Given the description of an element on the screen output the (x, y) to click on. 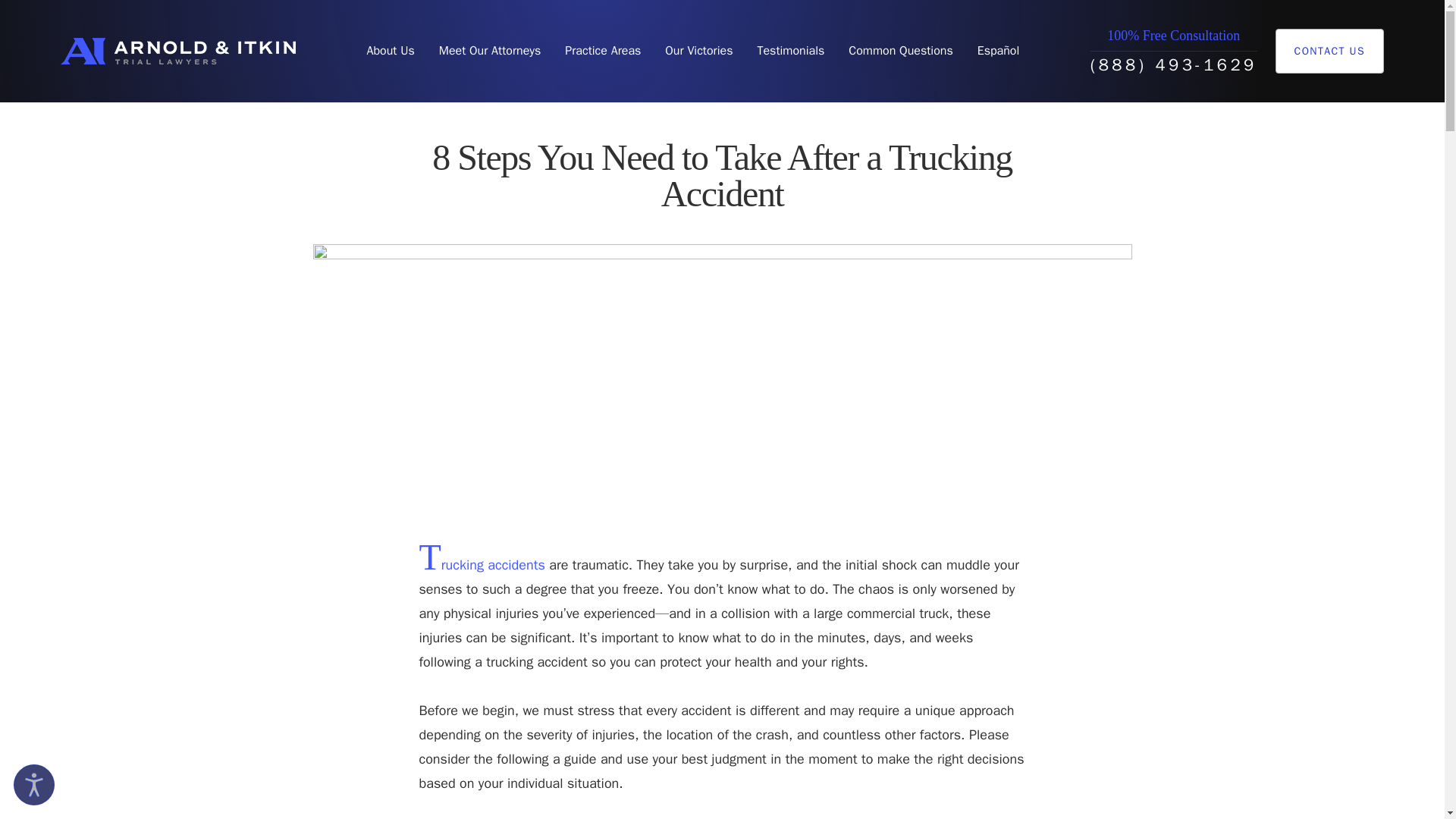
Meet Our Attorneys (490, 51)
Home (178, 50)
About Us (389, 51)
